Given the description of an element on the screen output the (x, y) to click on. 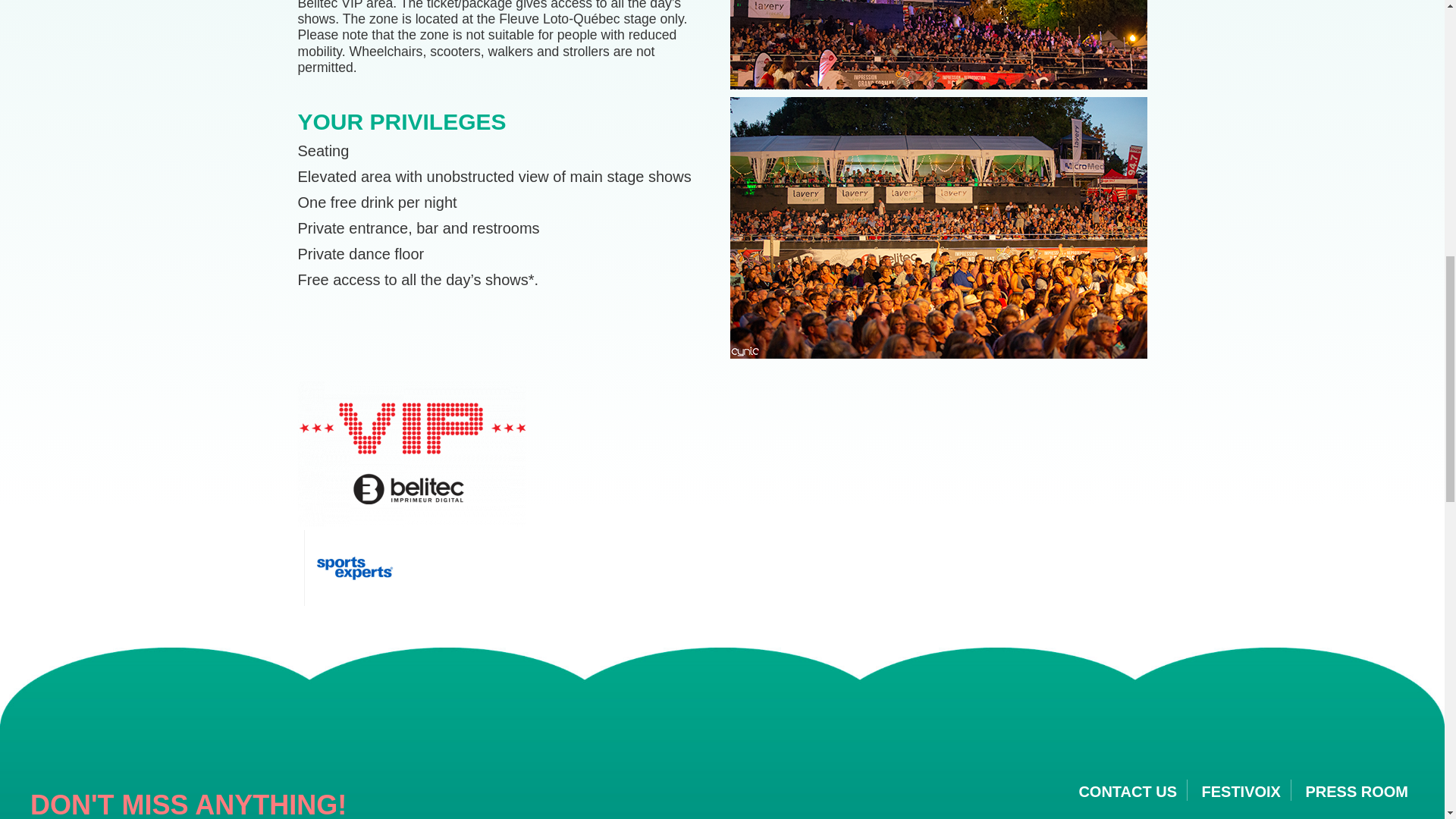
CONTACT US (1127, 791)
FESTIVOIX (1240, 791)
